Given the description of an element on the screen output the (x, y) to click on. 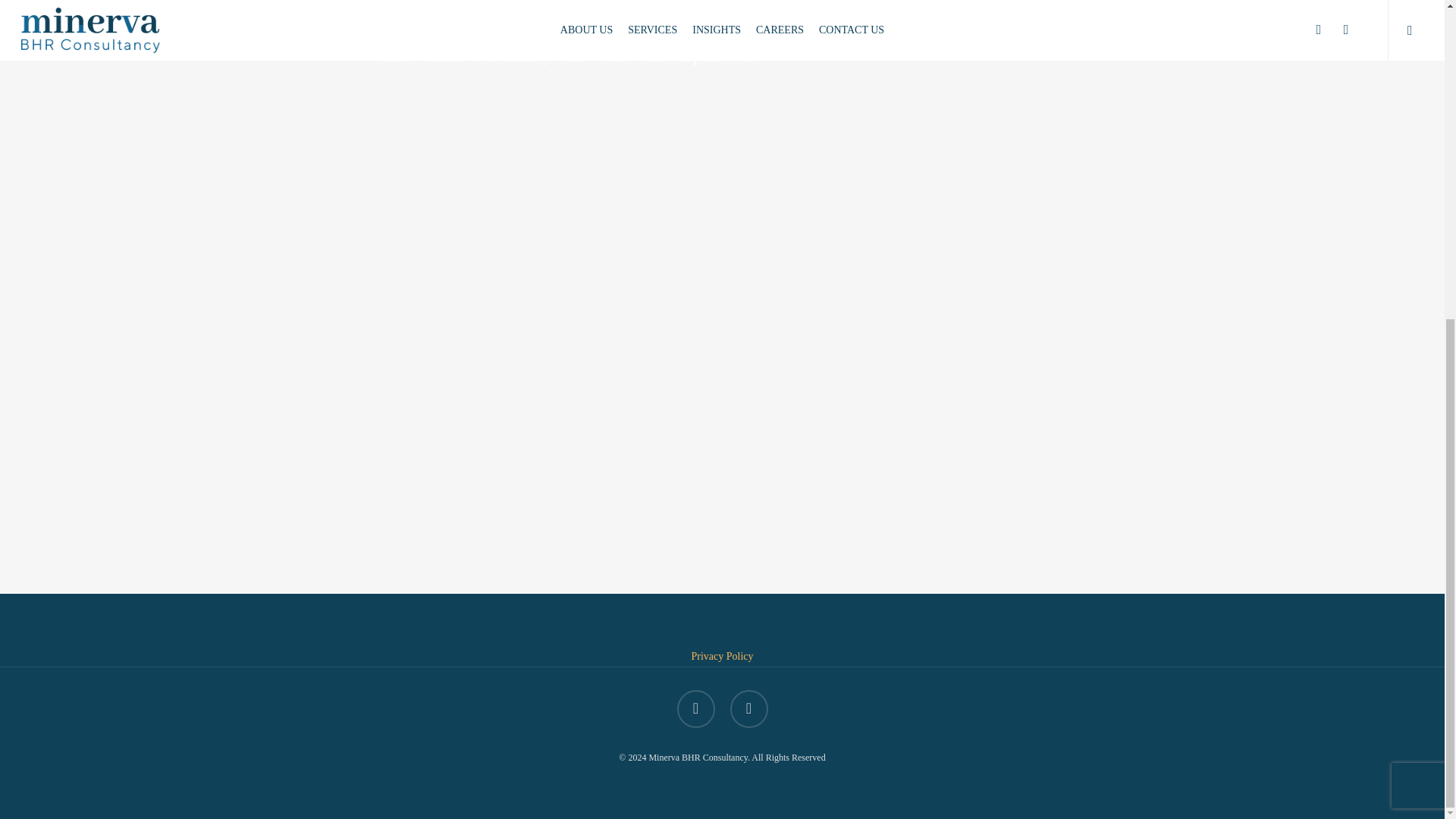
email (748, 709)
linkedin (695, 709)
Privacy Policy (721, 655)
